Given the description of an element on the screen output the (x, y) to click on. 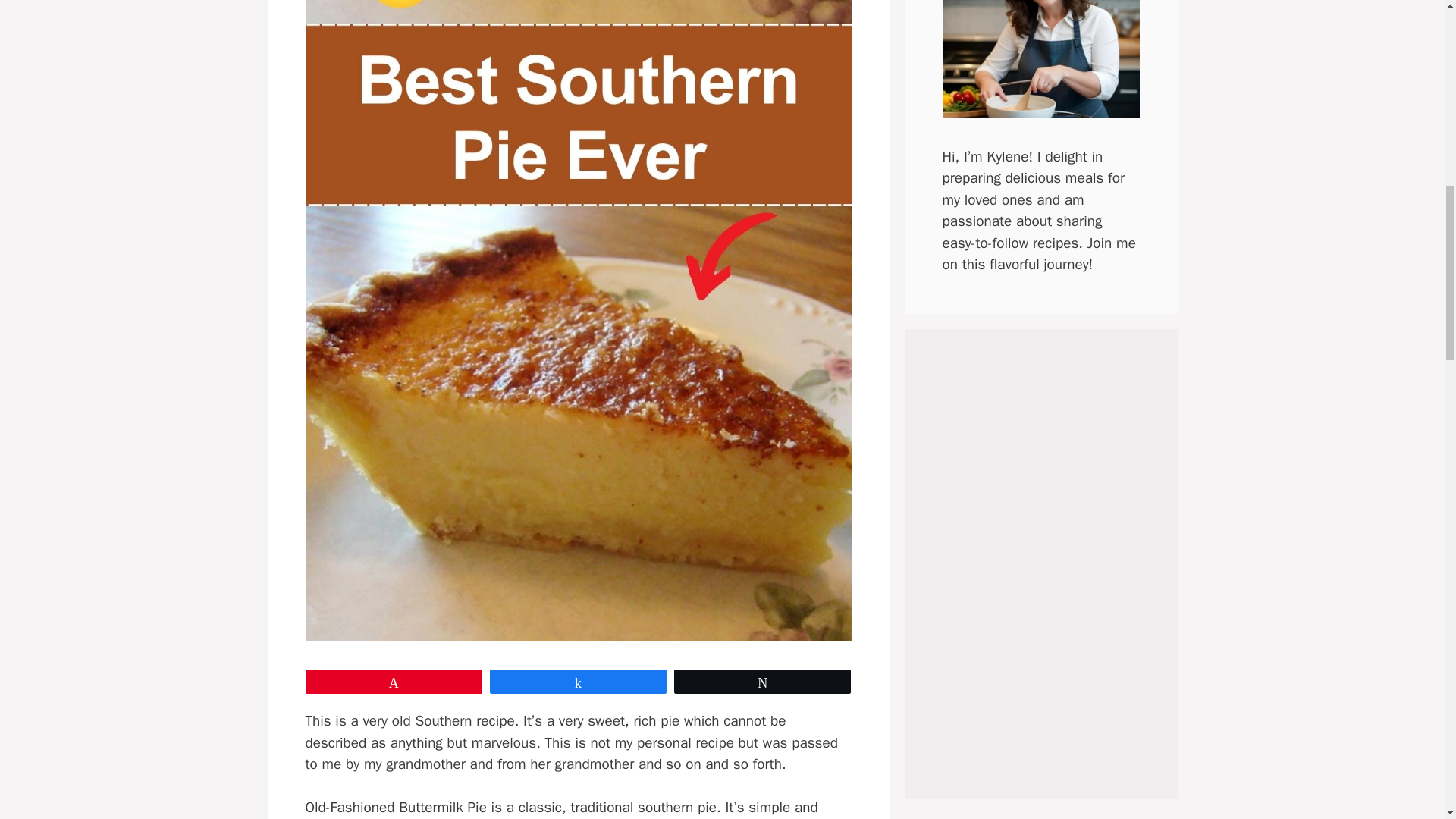
Scroll back to top (1406, 720)
